Given the description of an element on the screen output the (x, y) to click on. 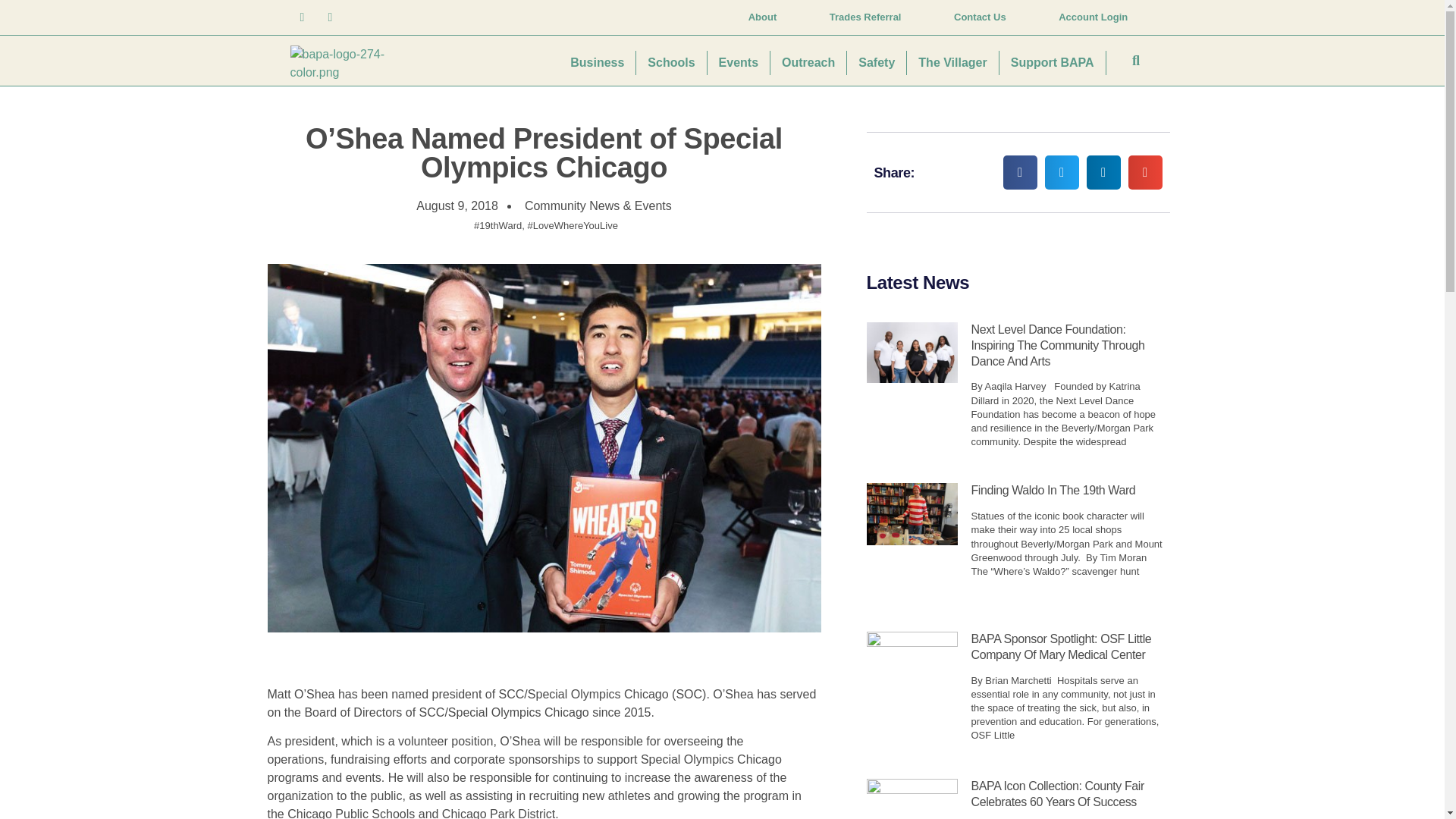
Safety (877, 61)
Events (738, 61)
Schools (671, 61)
Support BAPA (1052, 61)
Outreach (808, 61)
Trades Referral (865, 17)
bapa-logo-274-color.png (349, 63)
Business (597, 61)
Contact Us (979, 17)
Account Login (1093, 17)
About (762, 17)
The Villager (952, 61)
